Given the description of an element on the screen output the (x, y) to click on. 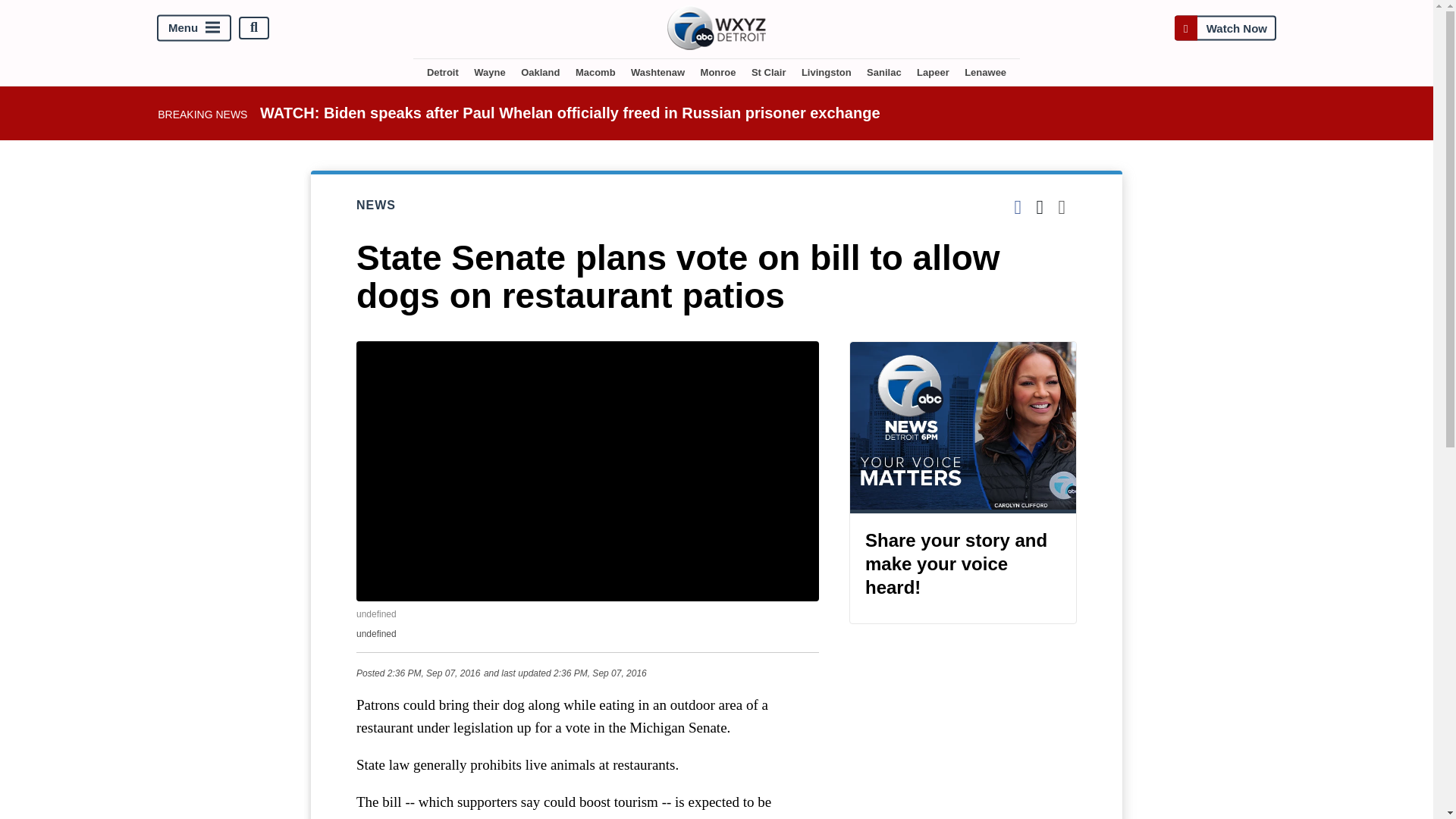
Menu (194, 27)
Watch Now (1224, 27)
